Given the description of an element on the screen output the (x, y) to click on. 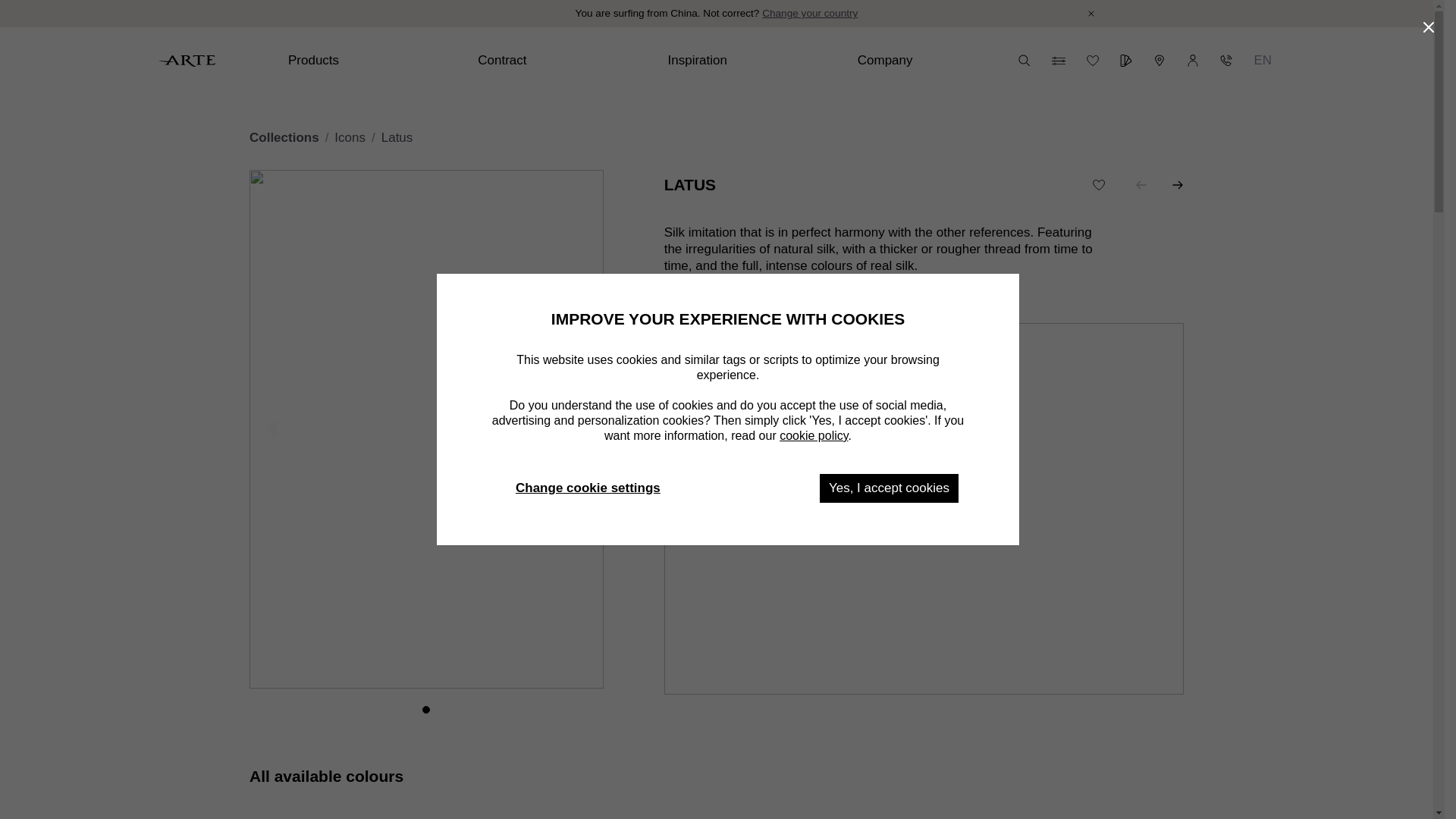
Company (940, 60)
Inspiration (749, 60)
Contract (560, 60)
EN (1262, 60)
Change your country (809, 13)
Go to home (186, 60)
Close (1091, 13)
Previous Pattern (1140, 184)
Products (370, 60)
Next Pattern (1176, 184)
